Given the description of an element on the screen output the (x, y) to click on. 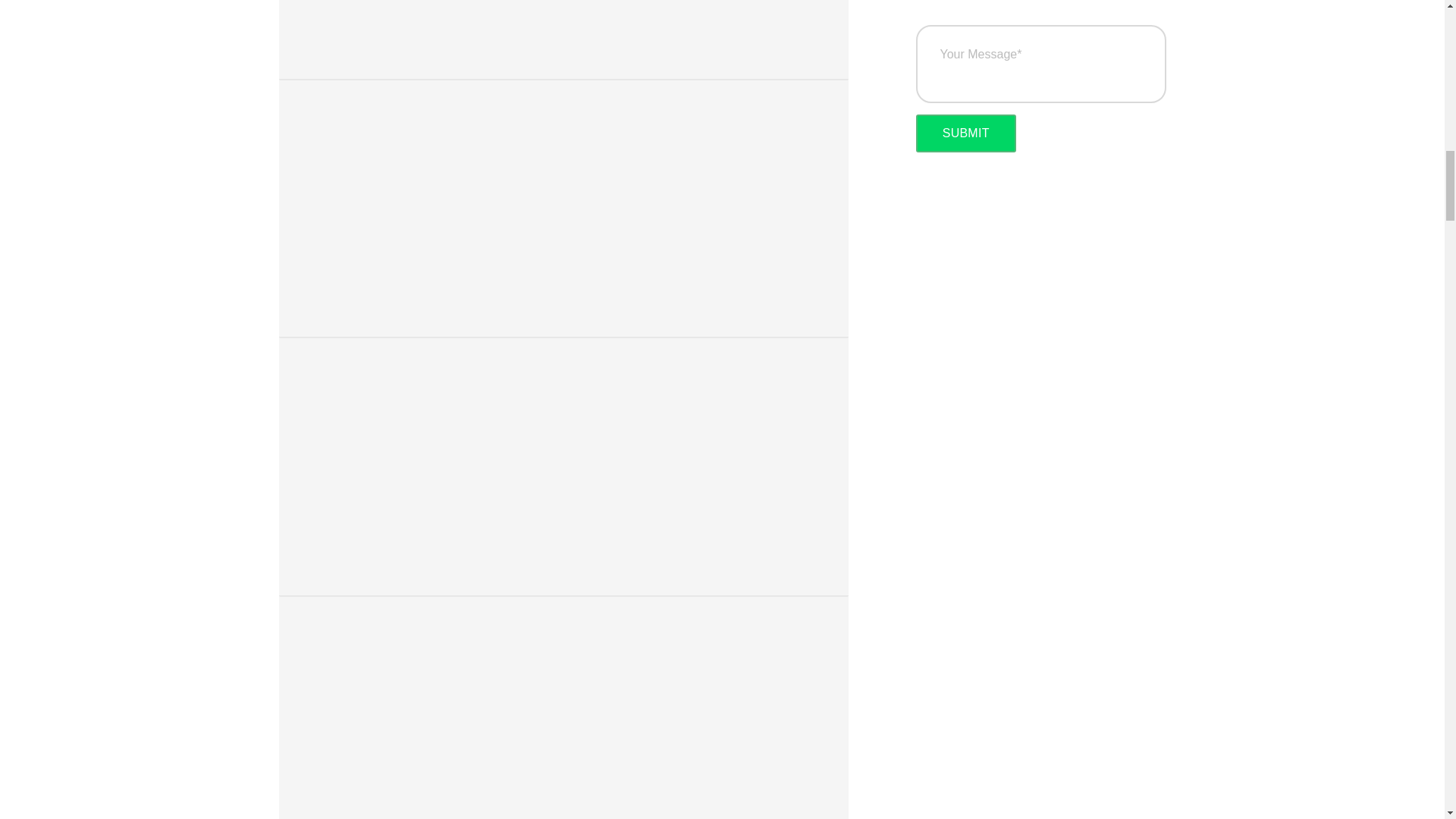
SUBMIT (965, 133)
